Given the description of an element on the screen output the (x, y) to click on. 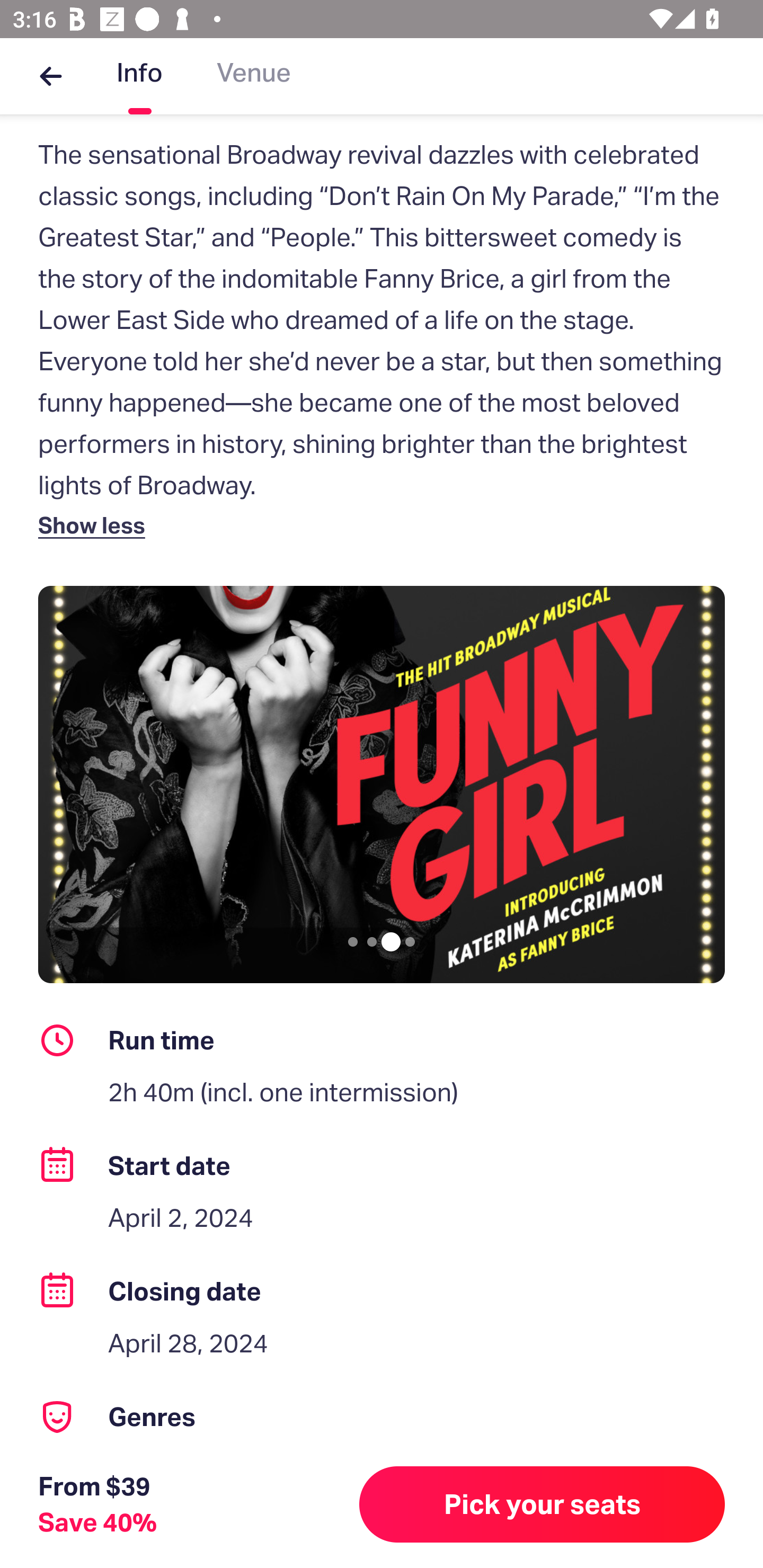
Venue (253, 75)
Show less (95, 524)
Pick your seats (541, 1504)
